Given the description of an element on the screen output the (x, y) to click on. 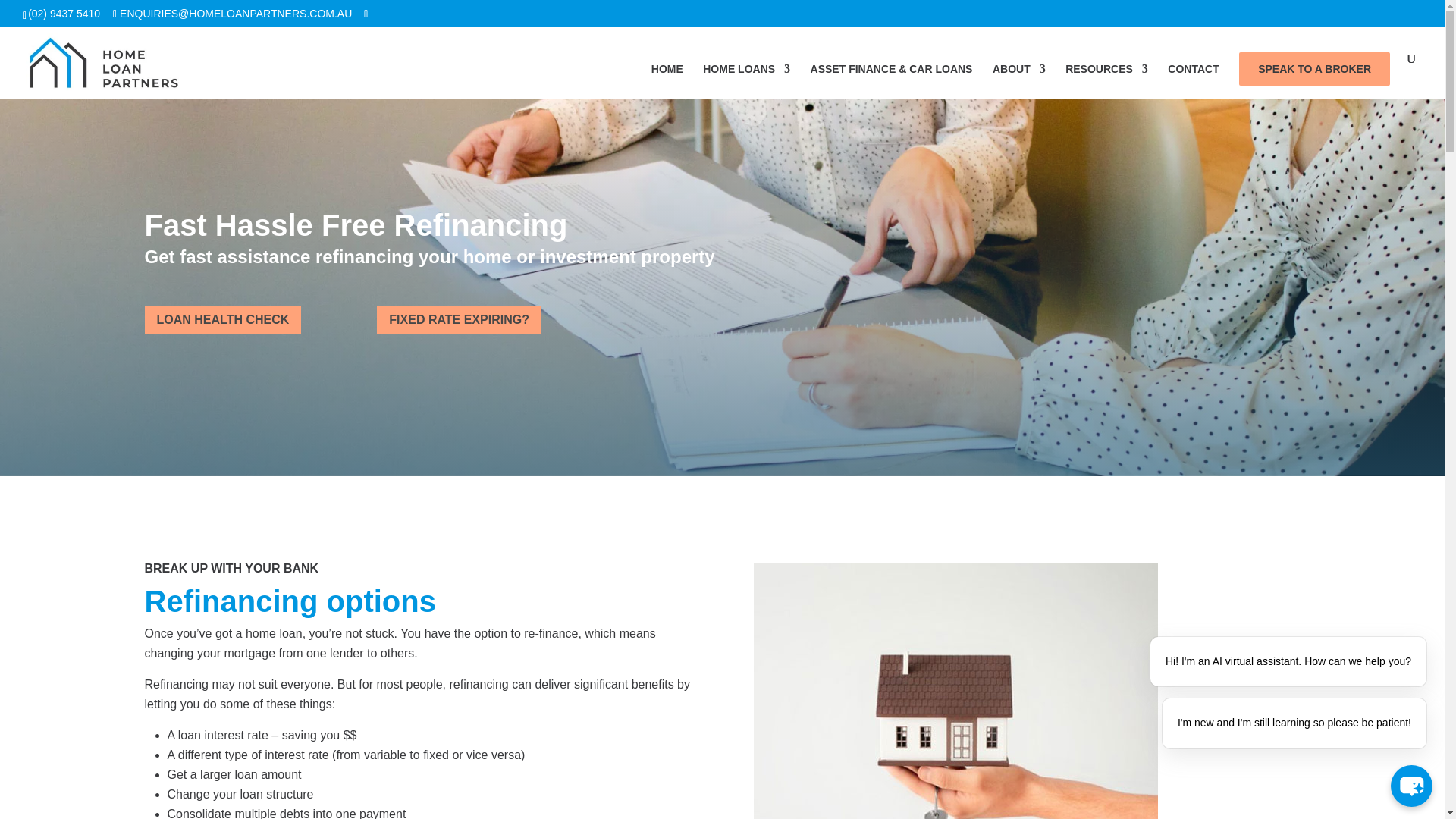
refinance-content01 (955, 690)
RESOURCES (1106, 81)
SPEAK TO A BROKER (1314, 68)
HOME (666, 81)
ABOUT (1018, 81)
LOAN HEALTH CHECK (222, 319)
HOME LOANS (746, 81)
CONTACT (1192, 81)
Page 8 (417, 721)
